Given the description of an element on the screen output the (x, y) to click on. 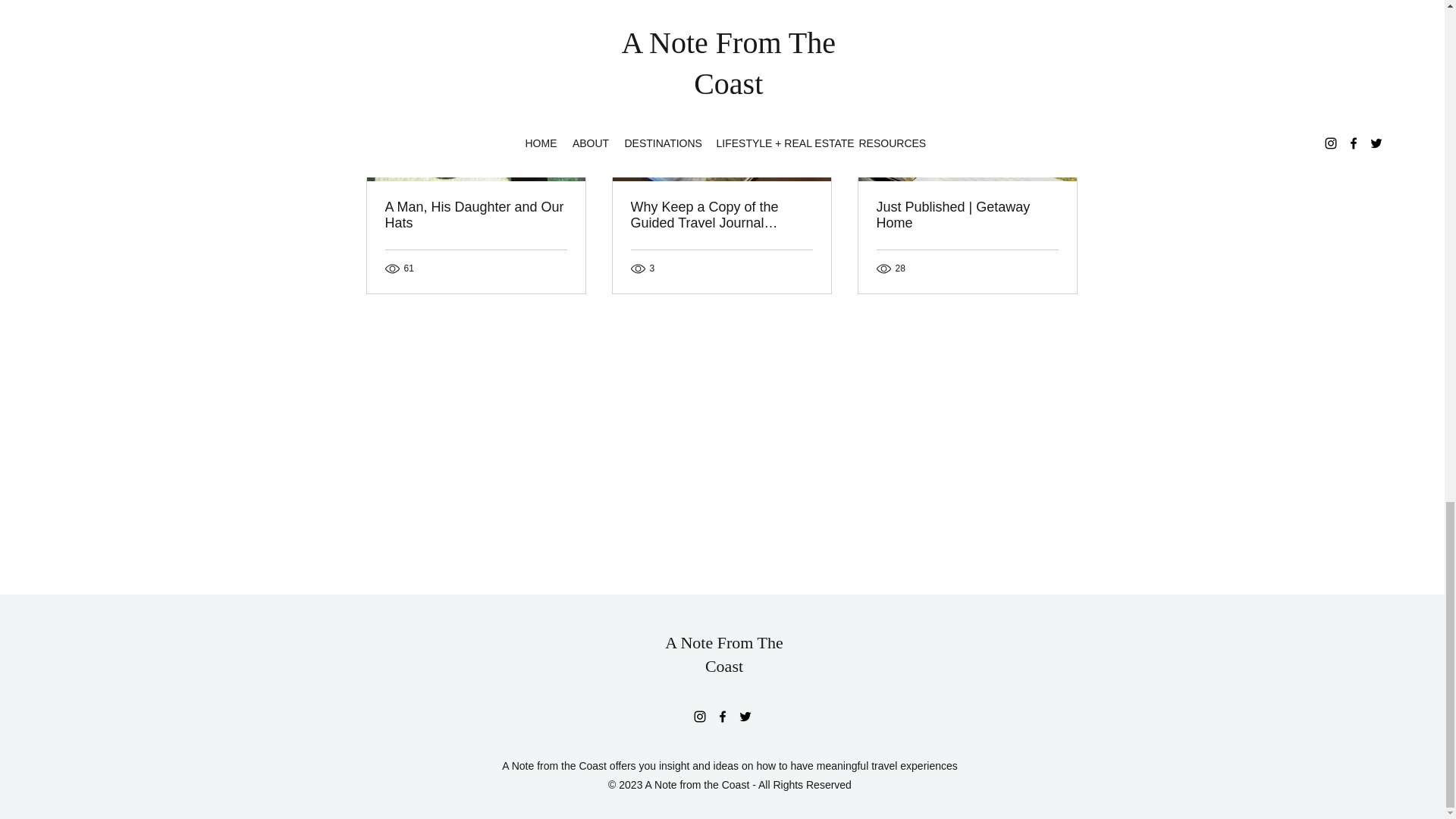
A Man, His Daughter and Our Hats (476, 214)
See All (1061, 31)
